Given the description of an element on the screen output the (x, y) to click on. 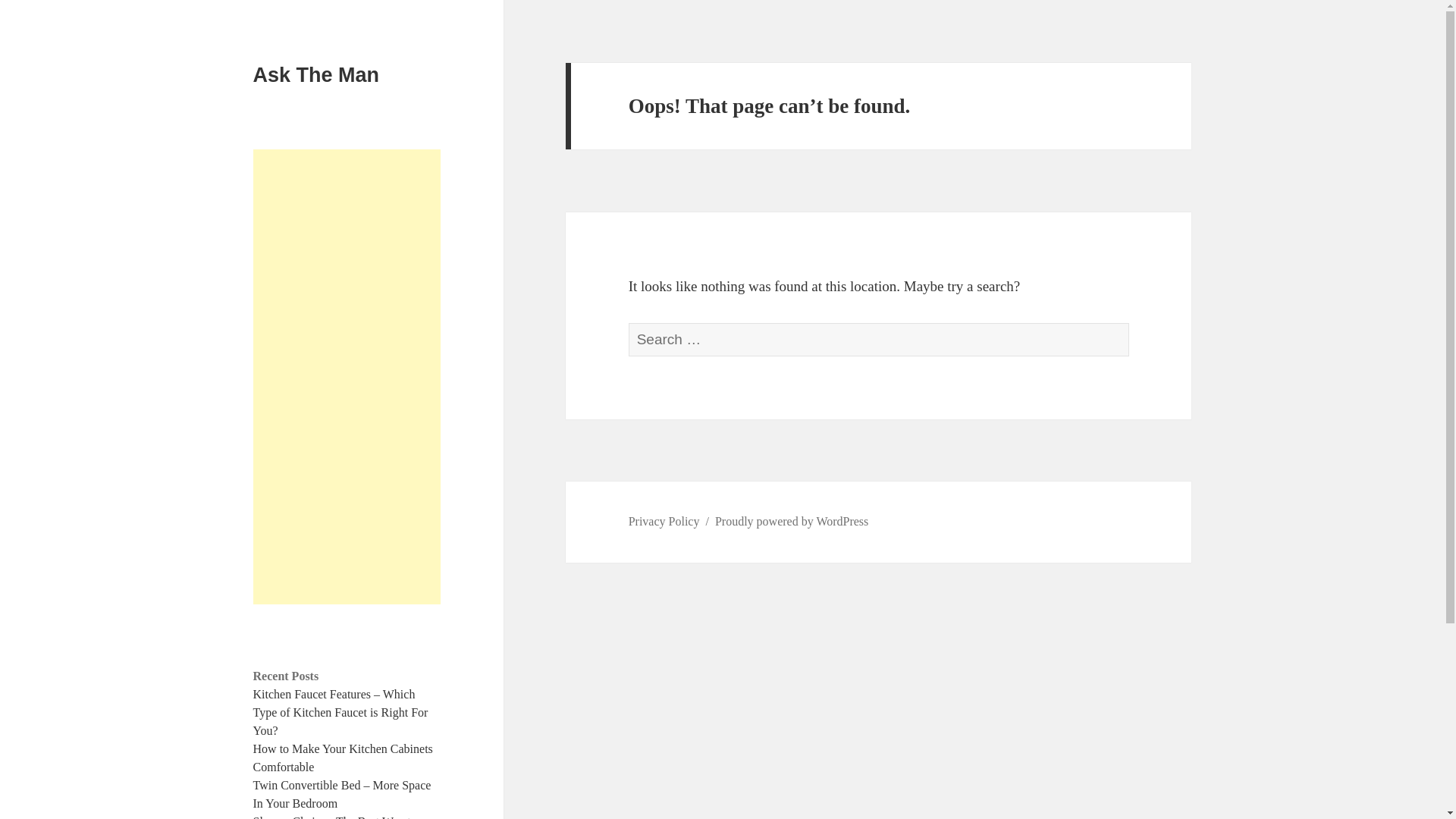
Proudly powered by WordPress (790, 521)
Privacy Policy (664, 521)
How to Make Your Kitchen Cabinets Comfortable (342, 757)
Advertisement (347, 376)
Ask The Man (316, 74)
